Given the description of an element on the screen output the (x, y) to click on. 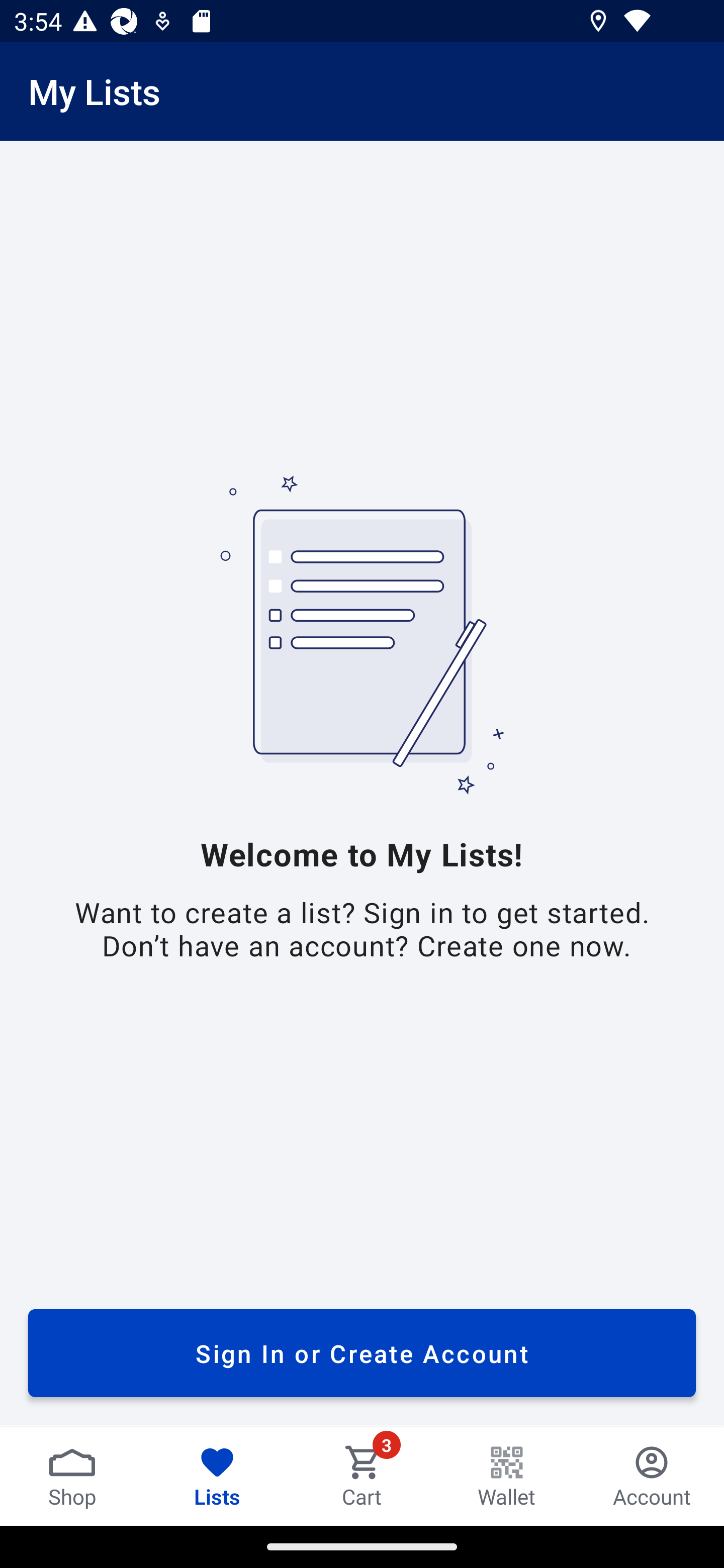
Sign In or Create Account (361, 1353)
Shop (72, 1475)
Cart Cart 3 (361, 1475)
Wallet (506, 1475)
Account (651, 1475)
